Given the description of an element on the screen output the (x, y) to click on. 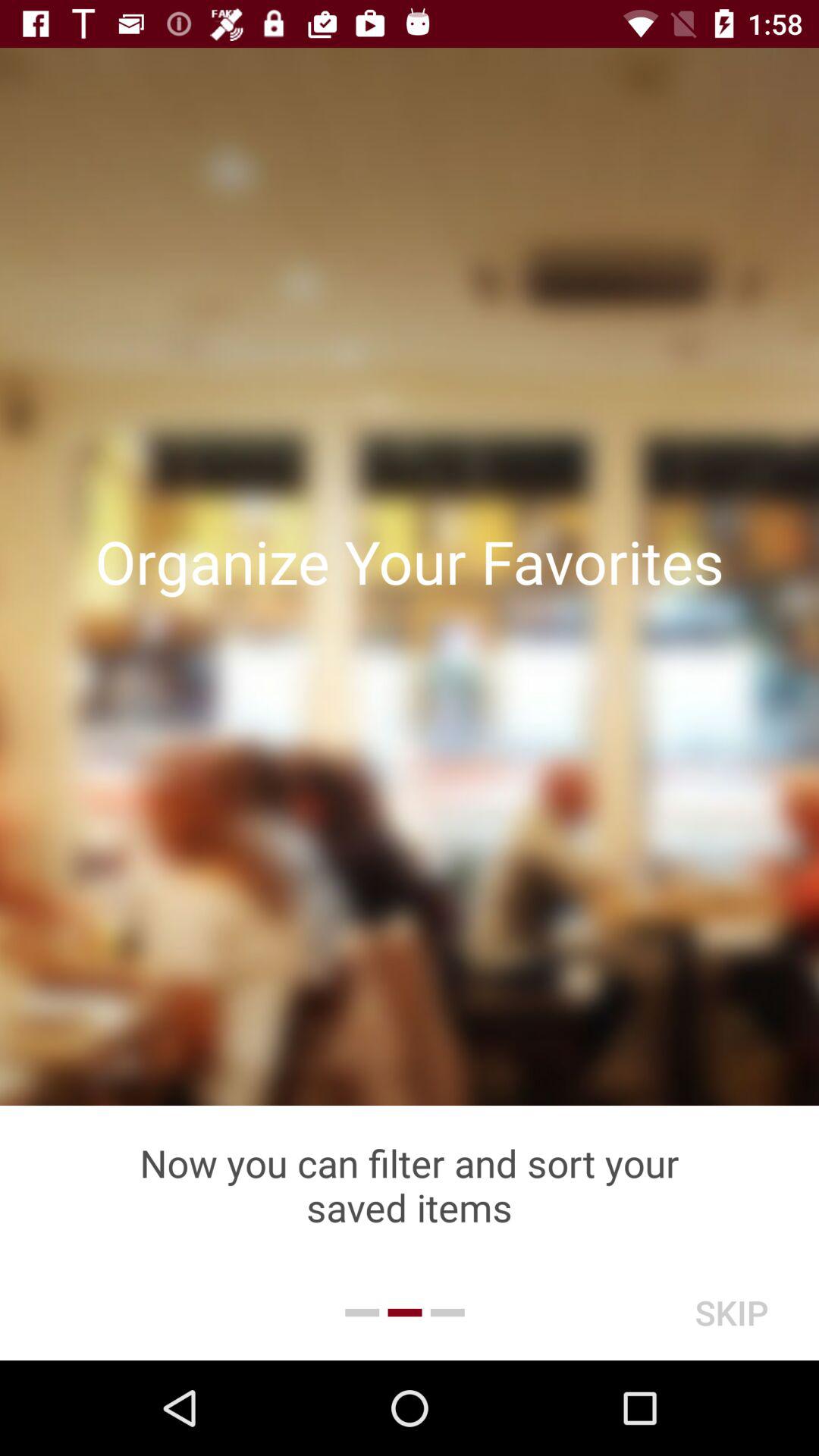
click the icon at the bottom right corner (731, 1312)
